Given the description of an element on the screen output the (x, y) to click on. 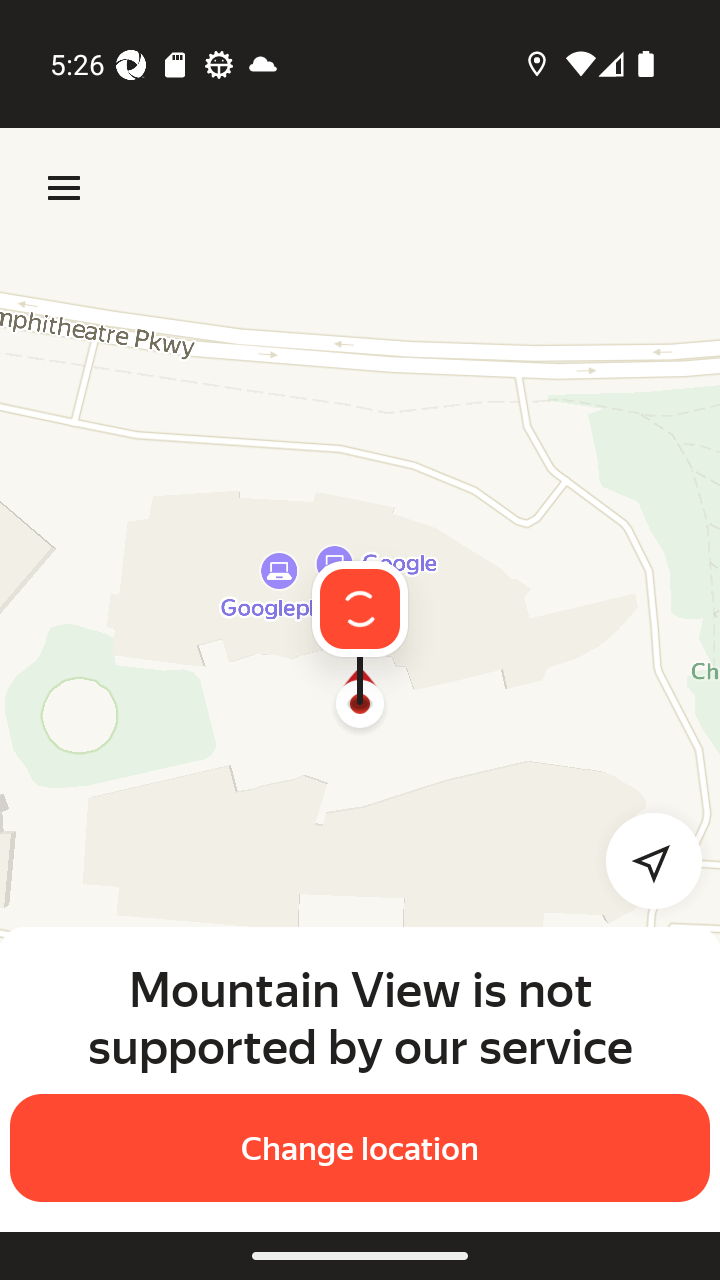
Menu Menu Menu (64, 188)
Detect my location (641, 860)
Mountain View is not supported by our service (360, 1017)
Change location (359, 1147)
